Given the description of an element on the screen output the (x, y) to click on. 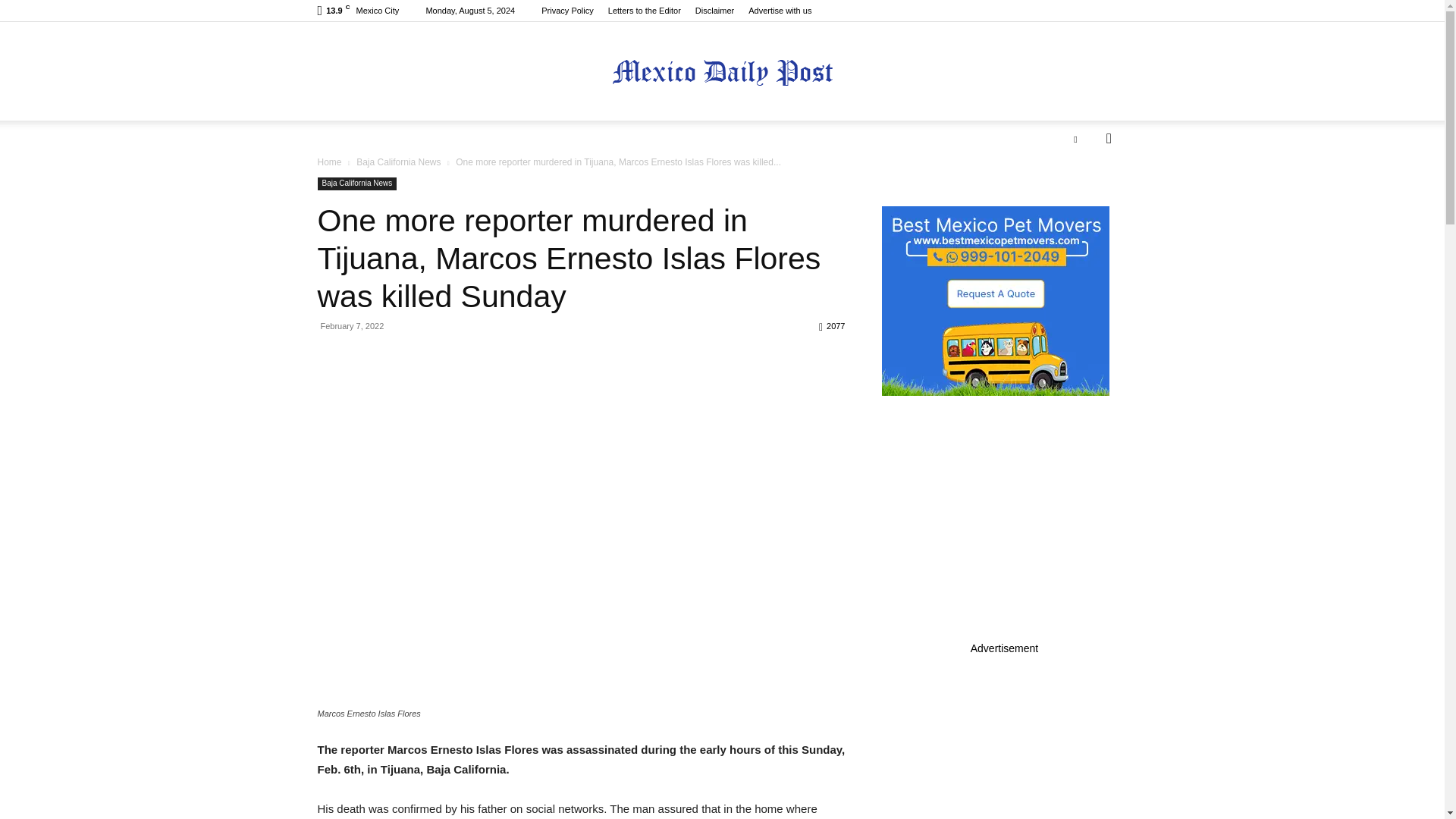
Search (1085, 199)
Baja California News (398, 162)
Baja California News (356, 183)
Mexico Daily Post (721, 72)
Home (328, 162)
Disclaimer (714, 10)
Privacy Policy (566, 10)
Advertise with us (779, 10)
Letters to the Editor (644, 10)
View all posts in Baja California News (398, 162)
